Given the description of an element on the screen output the (x, y) to click on. 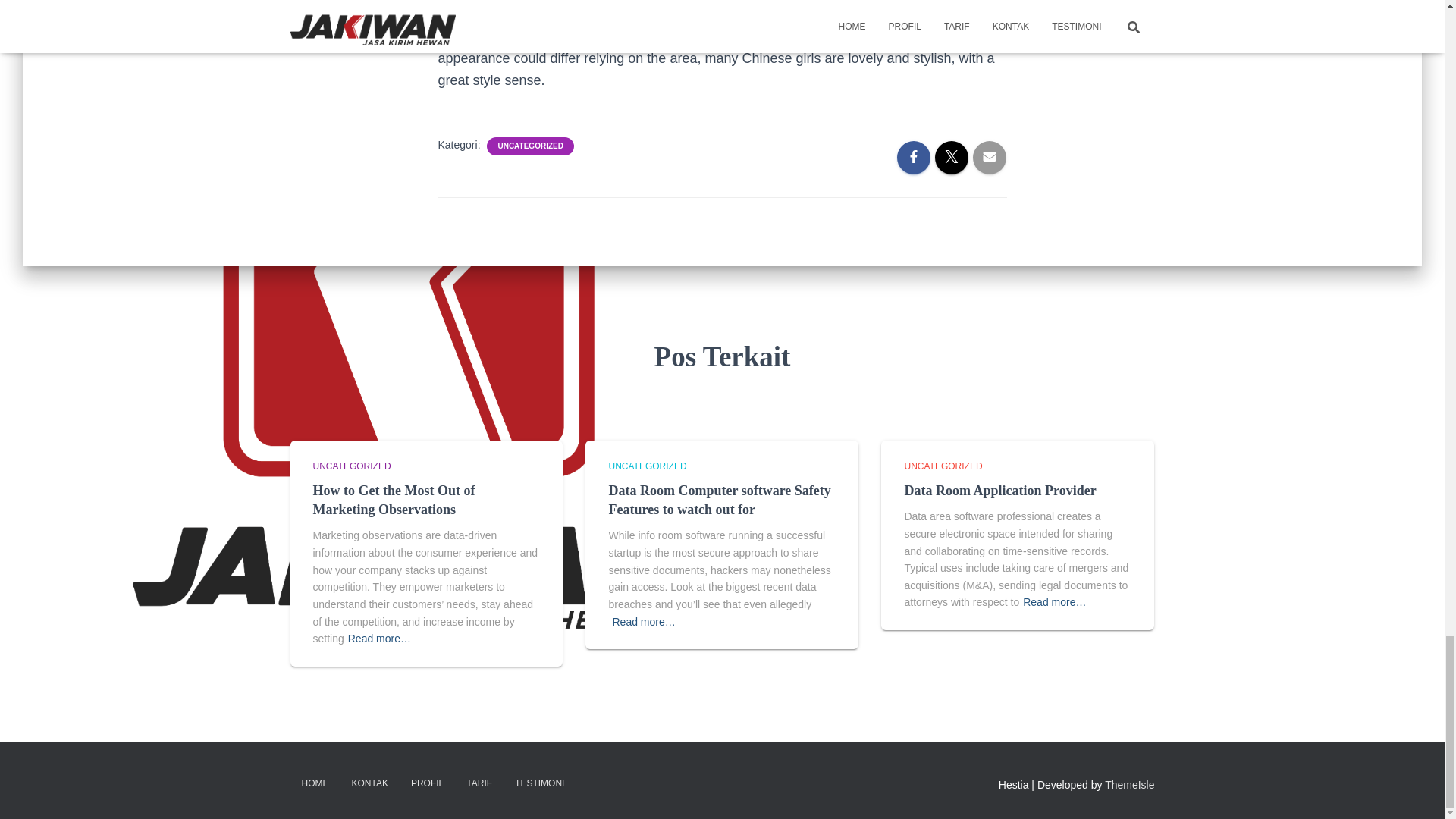
UNCATEGORIZED (646, 466)
Data Room Computer software Safety Features to watch out for (718, 499)
How to Get the Most Out of Marketing Observations (393, 499)
UNCATEGORIZED (530, 145)
ThemeIsle (1129, 784)
TESTIMONI (539, 783)
PROFIL (426, 783)
Lihat semua pos di Uncategorized (351, 466)
UNCATEGORIZED (942, 466)
Data Room Application Provider (1000, 490)
